Given the description of an element on the screen output the (x, y) to click on. 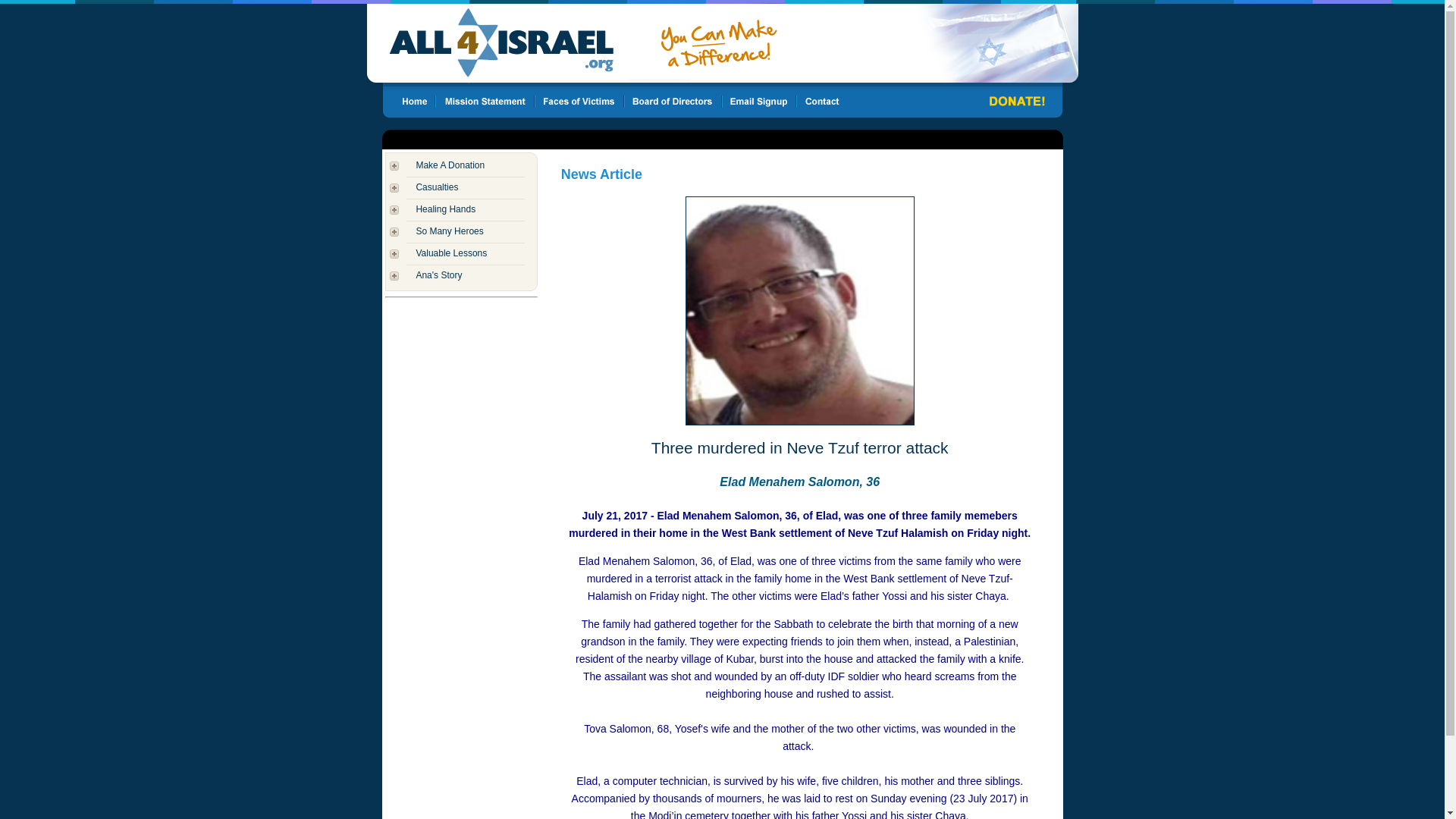
Healing Hands (445, 208)
Make A Donation (449, 164)
So Many Heroes (448, 231)
Casualties (436, 186)
Ana's Story (437, 275)
Valuable Lessons (450, 253)
